Given the description of an element on the screen output the (x, y) to click on. 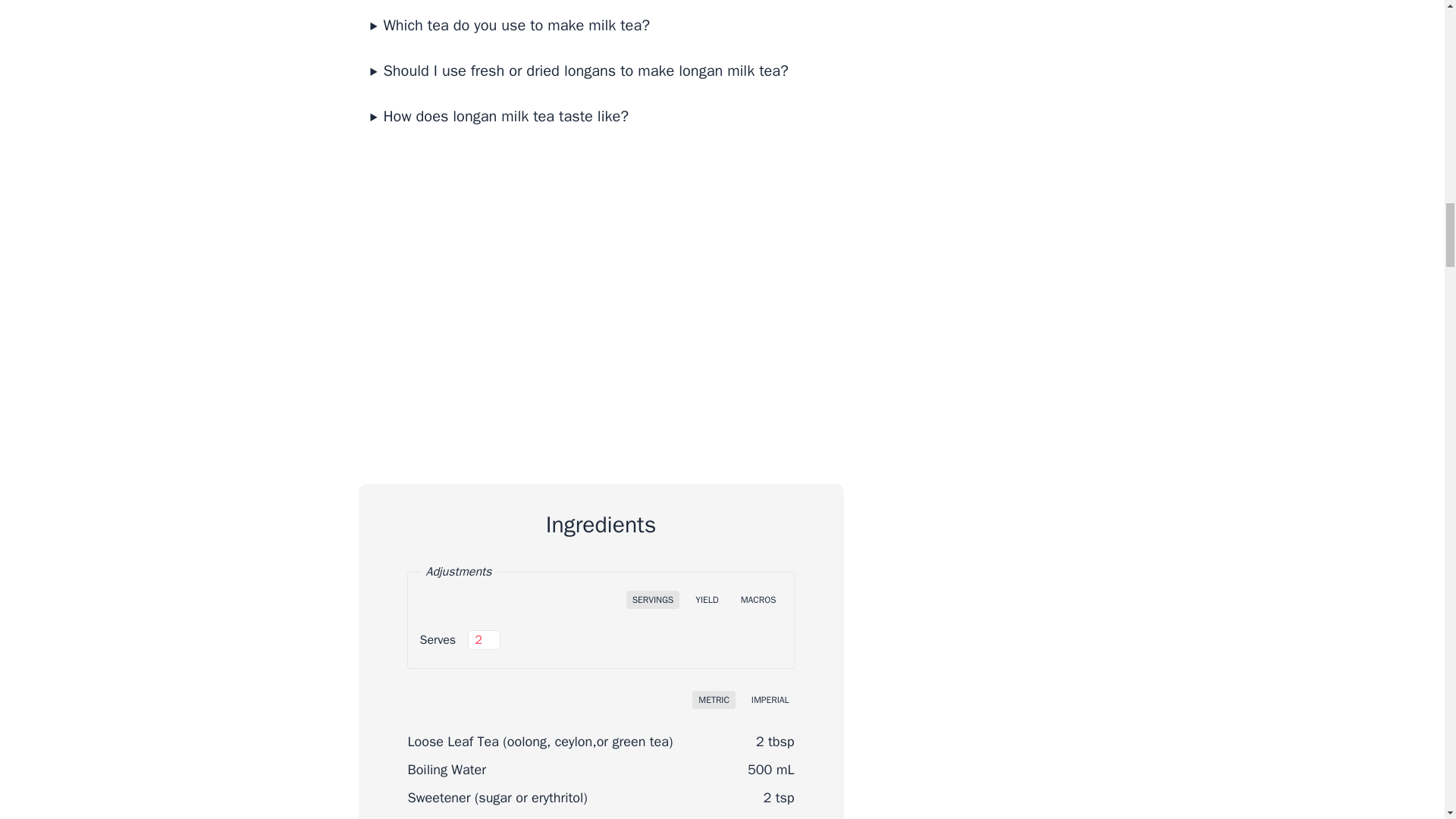
2 (483, 639)
